Given the description of an element on the screen output the (x, y) to click on. 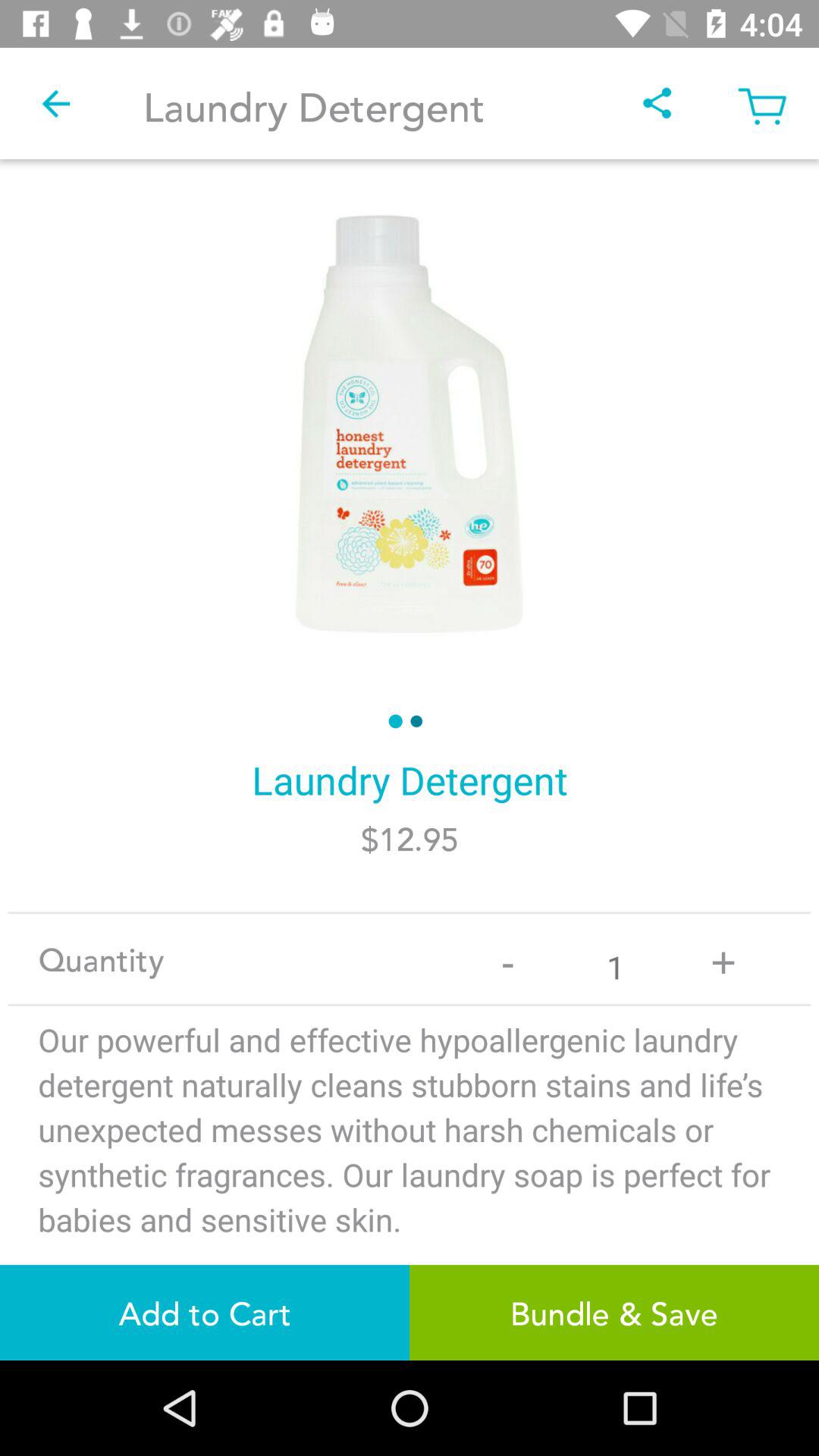
turn on the item at the top left corner (55, 103)
